Given the description of an element on the screen output the (x, y) to click on. 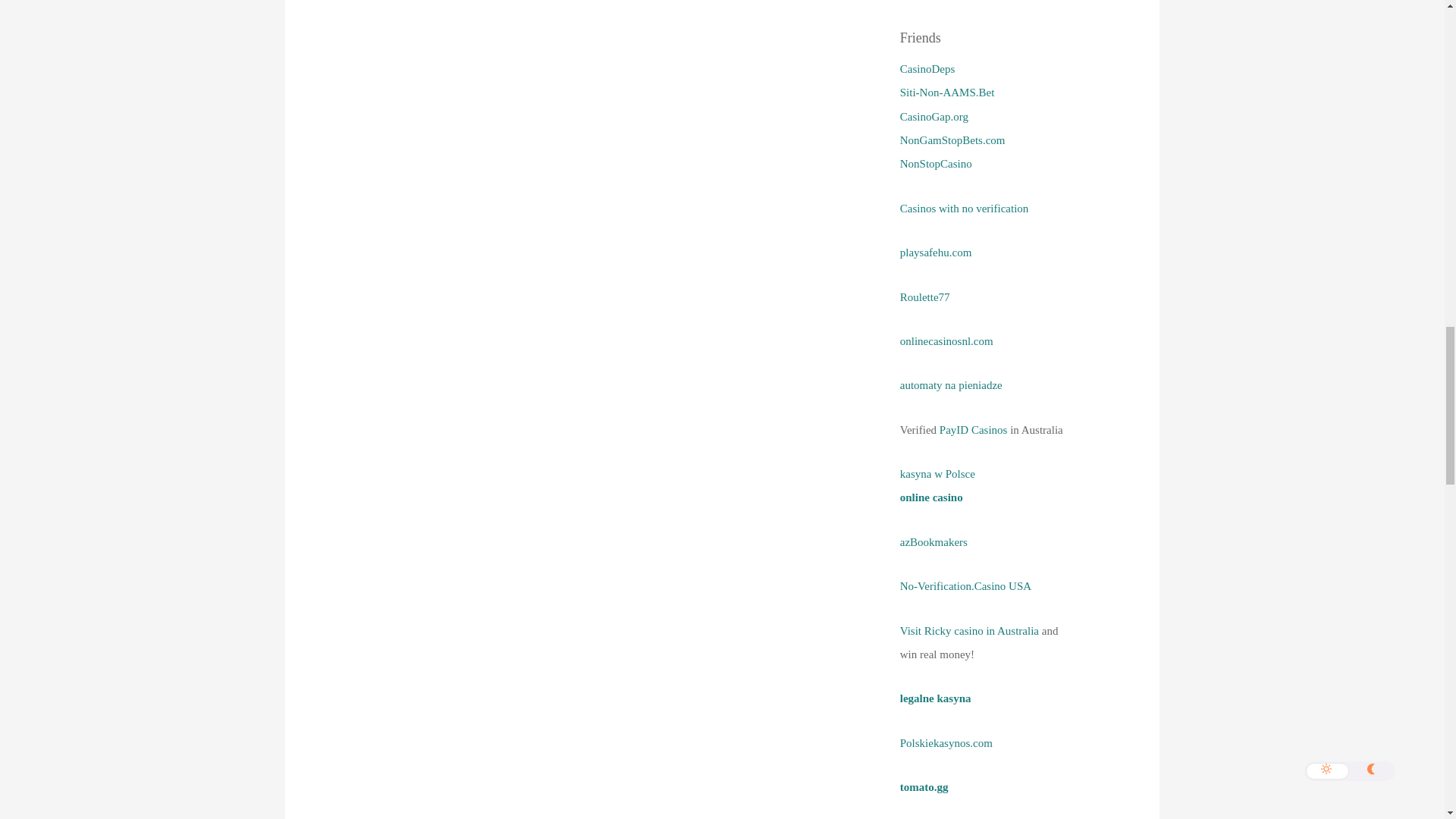
CasinoGap.org (933, 116)
Casinos with no verification (964, 208)
CasinoDeps (927, 69)
kasyna w Polsce (937, 473)
PayID Casinos (973, 429)
No-Verification.Casino USA (964, 585)
online casino (930, 497)
NonStopCasino (935, 163)
automaty na pieniadze (951, 385)
Roulette77 (924, 297)
